Given the description of an element on the screen output the (x, y) to click on. 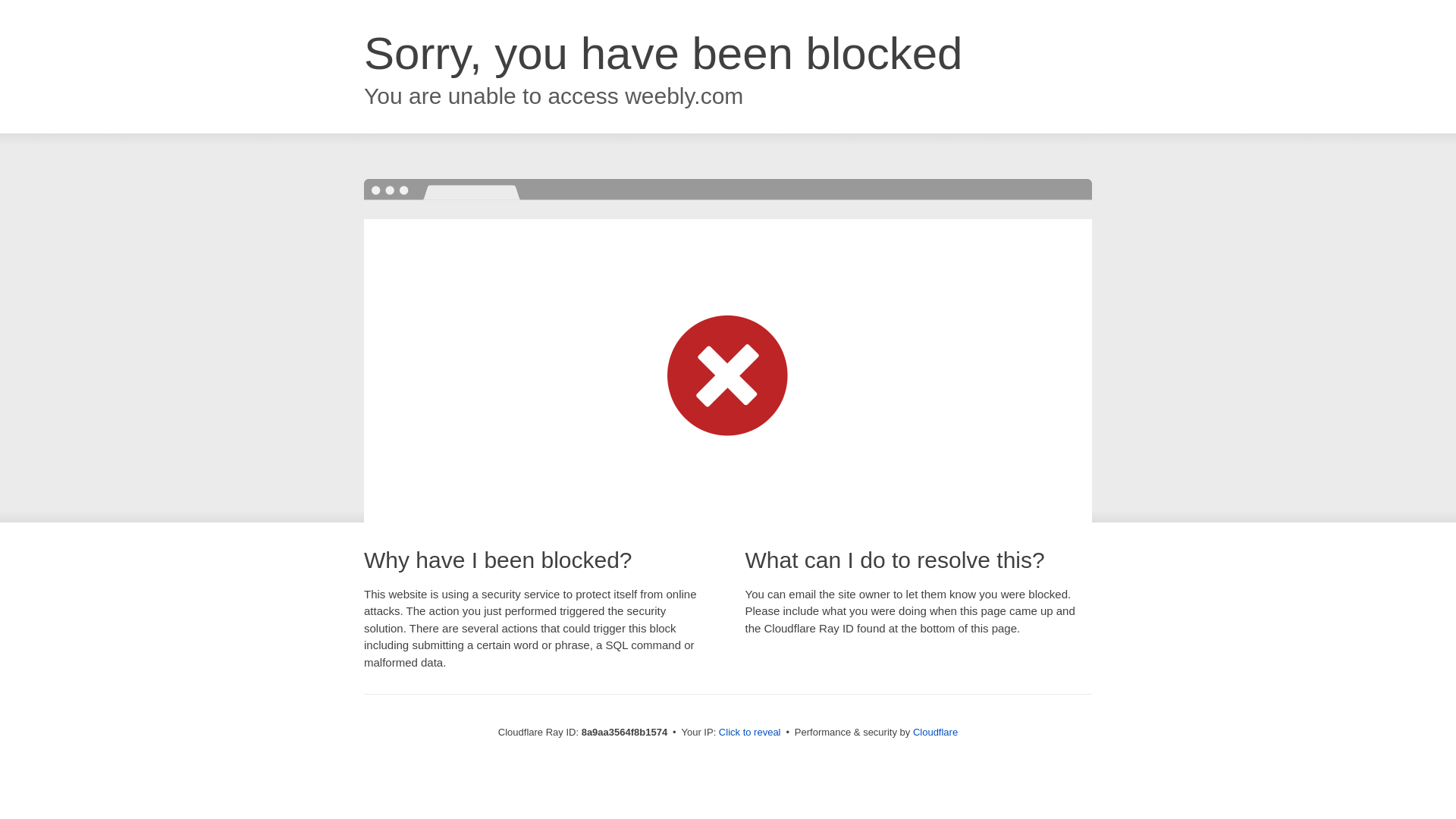
Click to reveal (749, 732)
Cloudflare (935, 731)
